Given the description of an element on the screen output the (x, y) to click on. 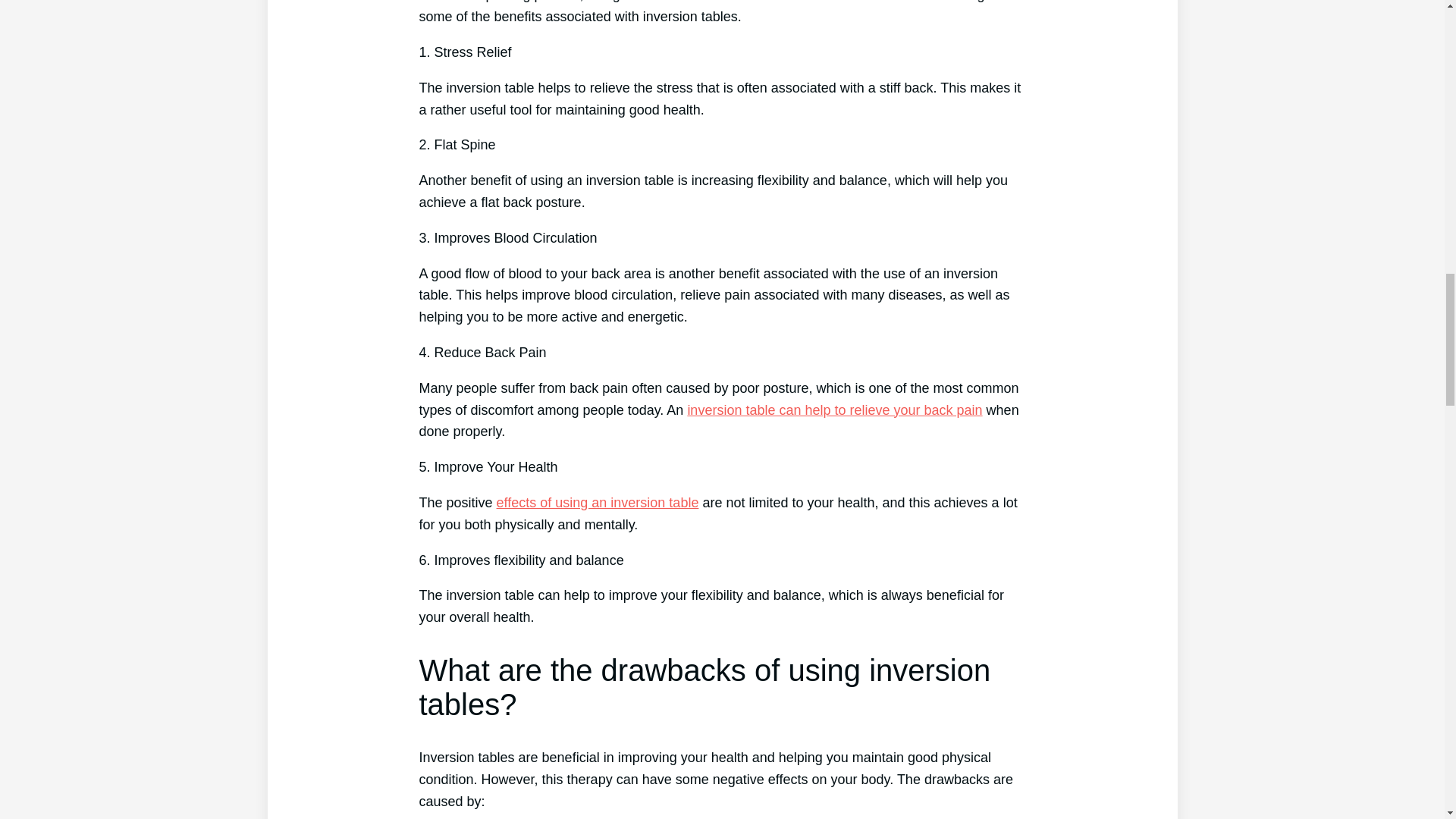
inversion table can help to relieve your back pain (834, 409)
effects of using an inversion table (597, 502)
